Given the description of an element on the screen output the (x, y) to click on. 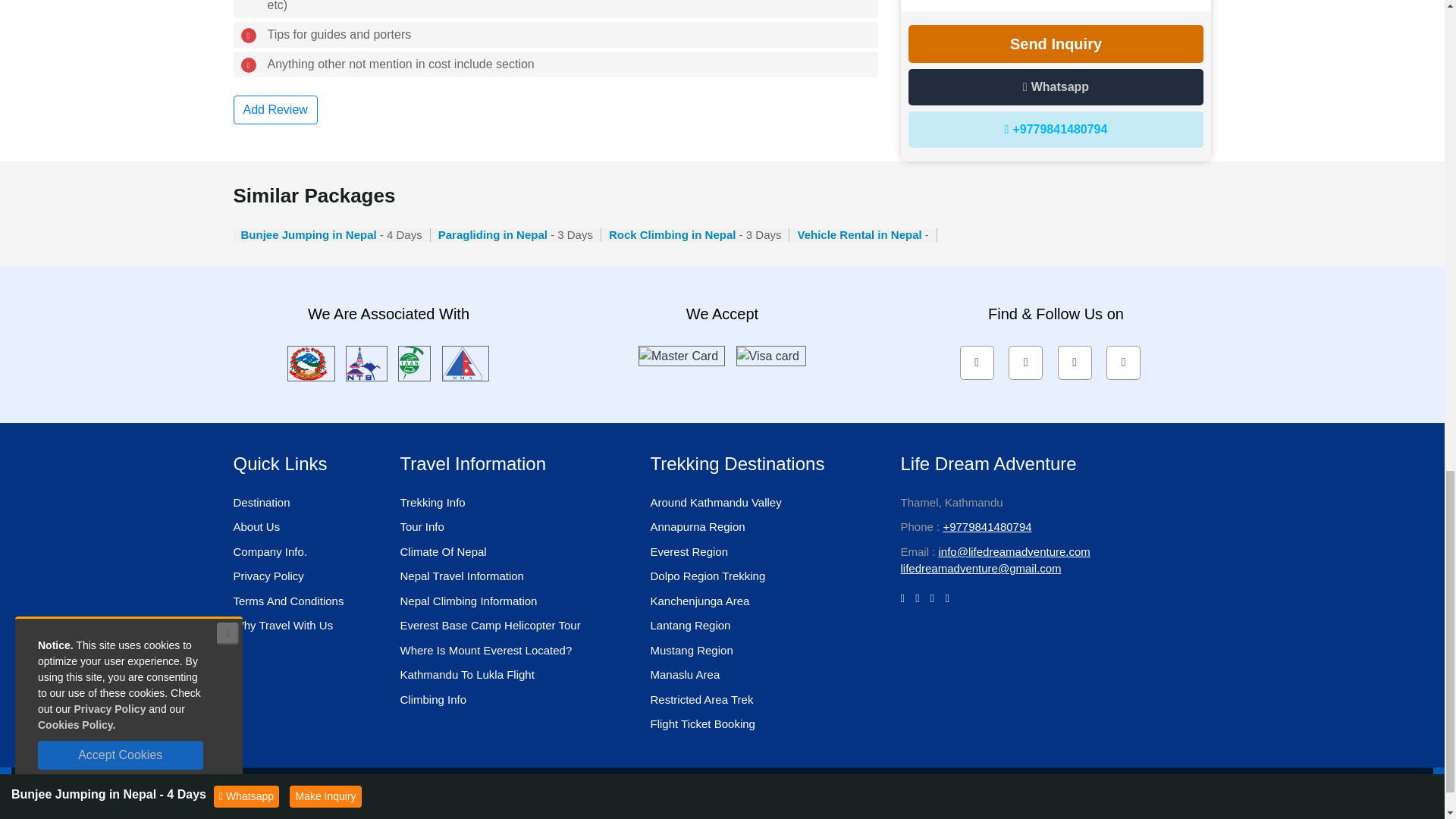
Visa card (770, 354)
Master Card (681, 354)
Nepal Mountaineering Association (465, 362)
Nepal Tourism Board (365, 362)
TAAN (413, 362)
Tourism Ministry of Nepal (310, 362)
